Given the description of an element on the screen output the (x, y) to click on. 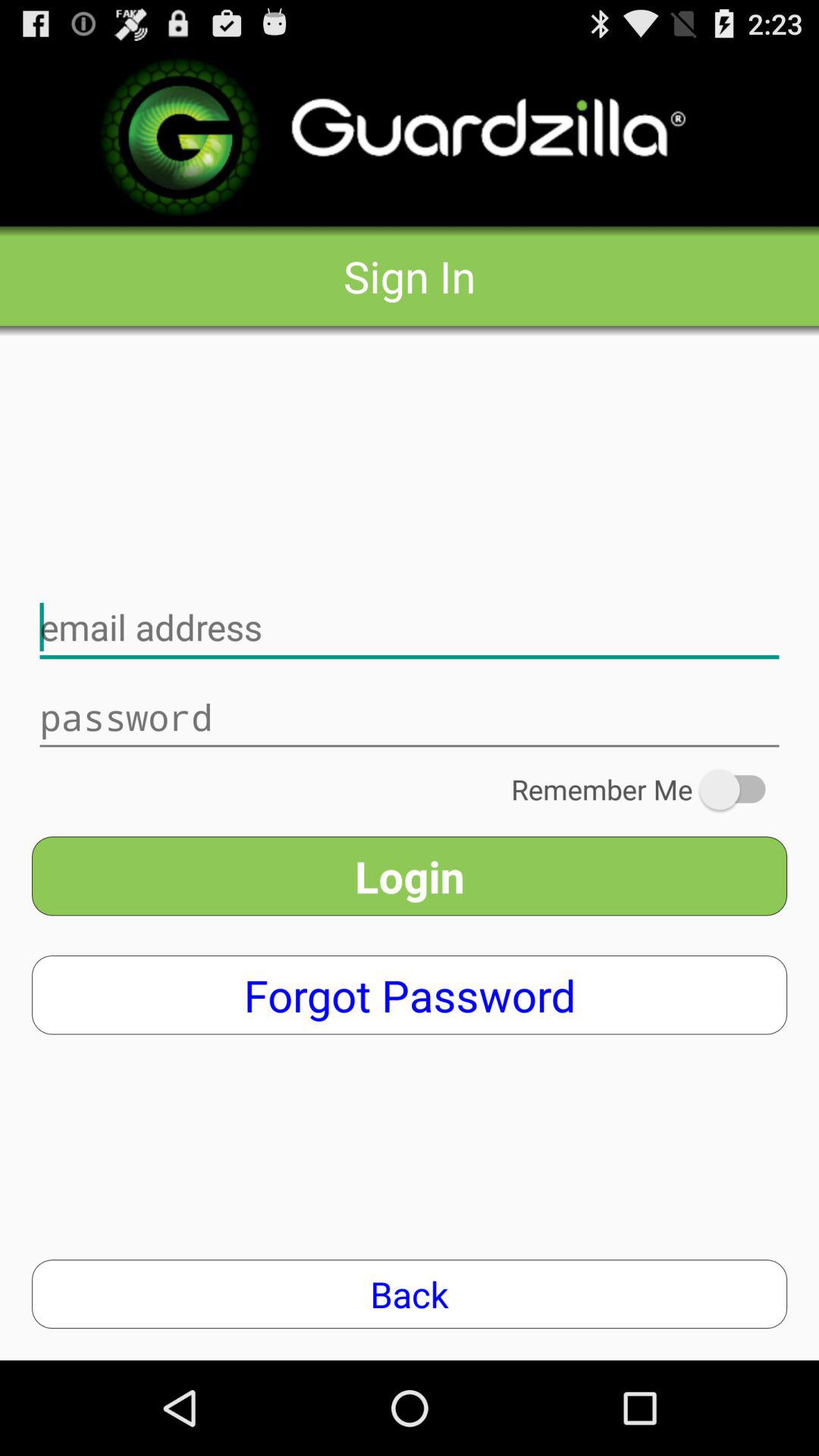
jump until the forgot password item (409, 994)
